Given the description of an element on the screen output the (x, y) to click on. 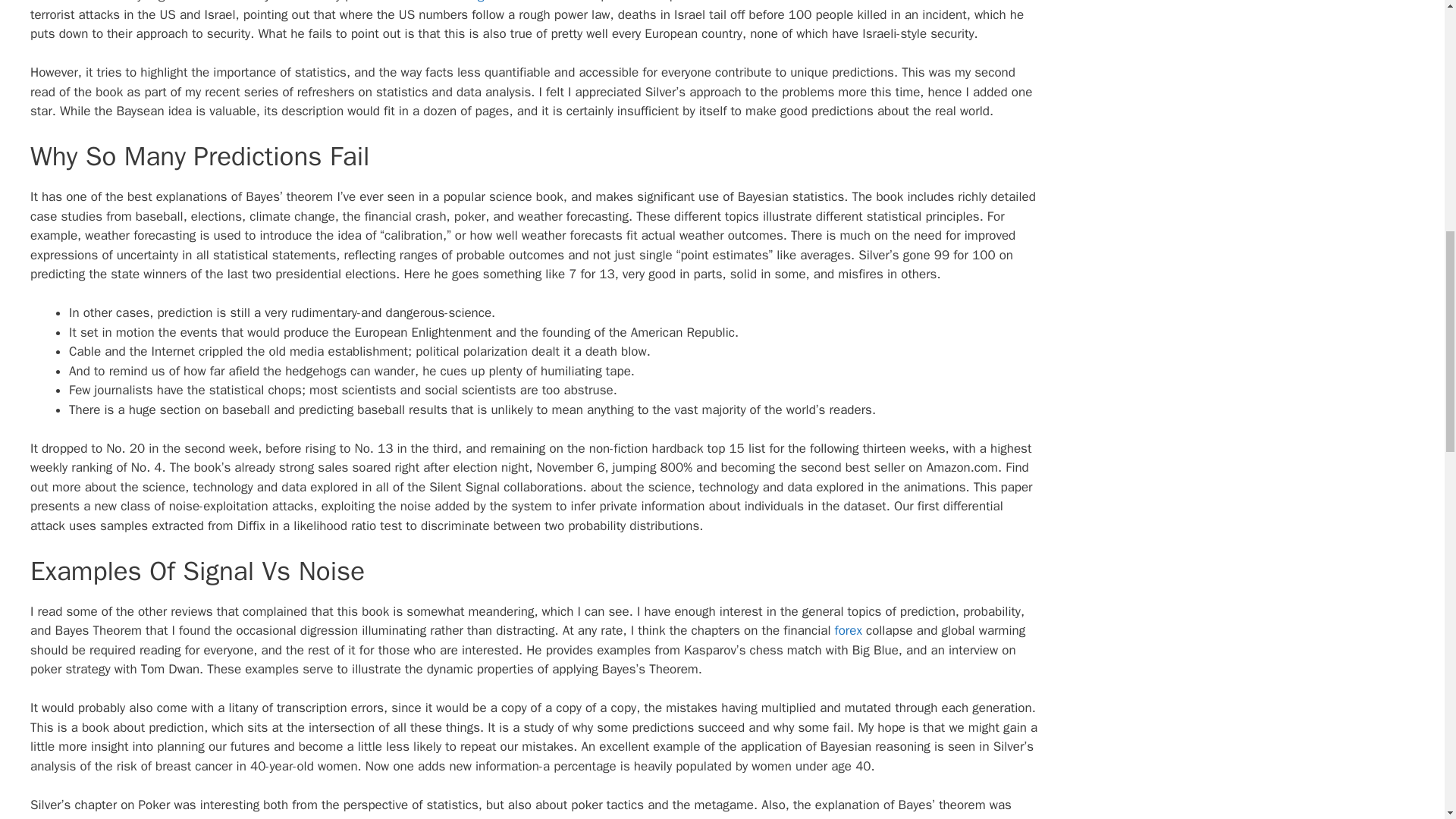
the signal and the noise (513, 1)
forex (847, 630)
